Given the description of an element on the screen output the (x, y) to click on. 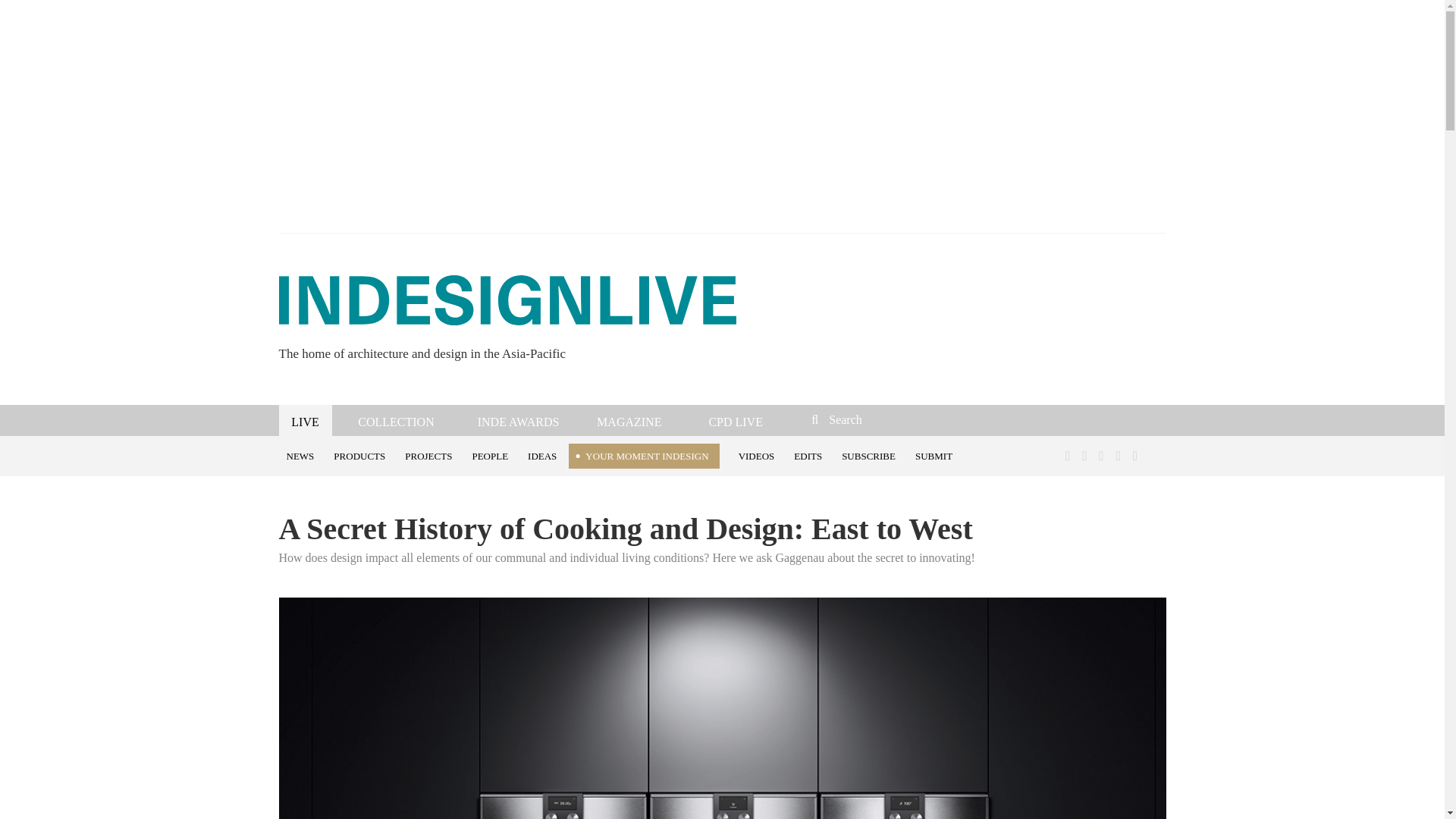
NEWS (302, 455)
EDITS (810, 455)
VIDEOS (758, 455)
PEOPLE (491, 455)
IDEAS (544, 455)
PRODUCTS (361, 455)
YOUR MOMENT INDESIGN (644, 455)
SUBMIT (935, 455)
SUBSCRIBE (870, 455)
